Given the description of an element on the screen output the (x, y) to click on. 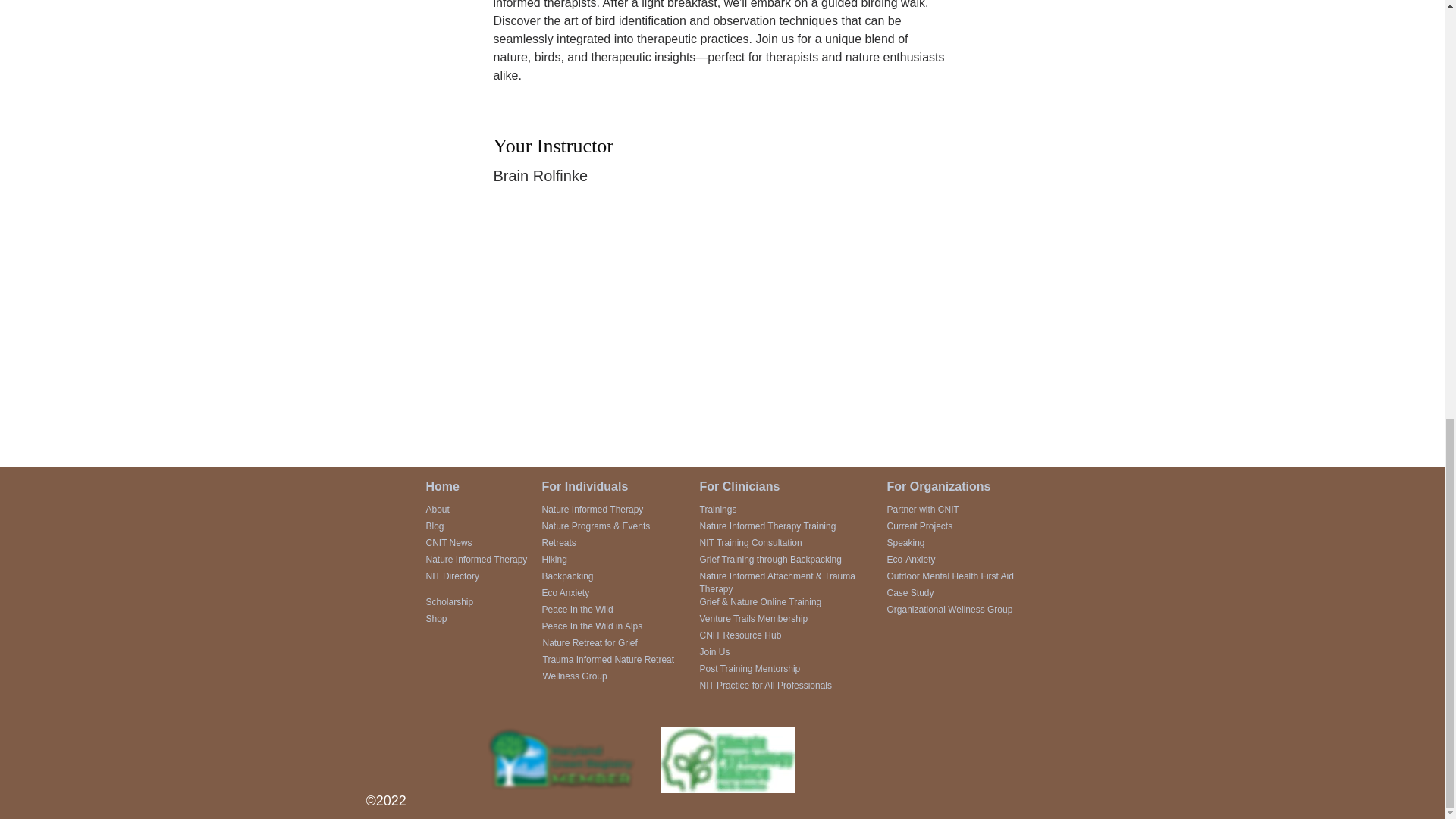
Home (443, 486)
Nature Informed Therapy (476, 559)
Blog (435, 525)
About (437, 509)
CNIT News (448, 542)
NIT Directory (452, 575)
